Given the description of an element on the screen output the (x, y) to click on. 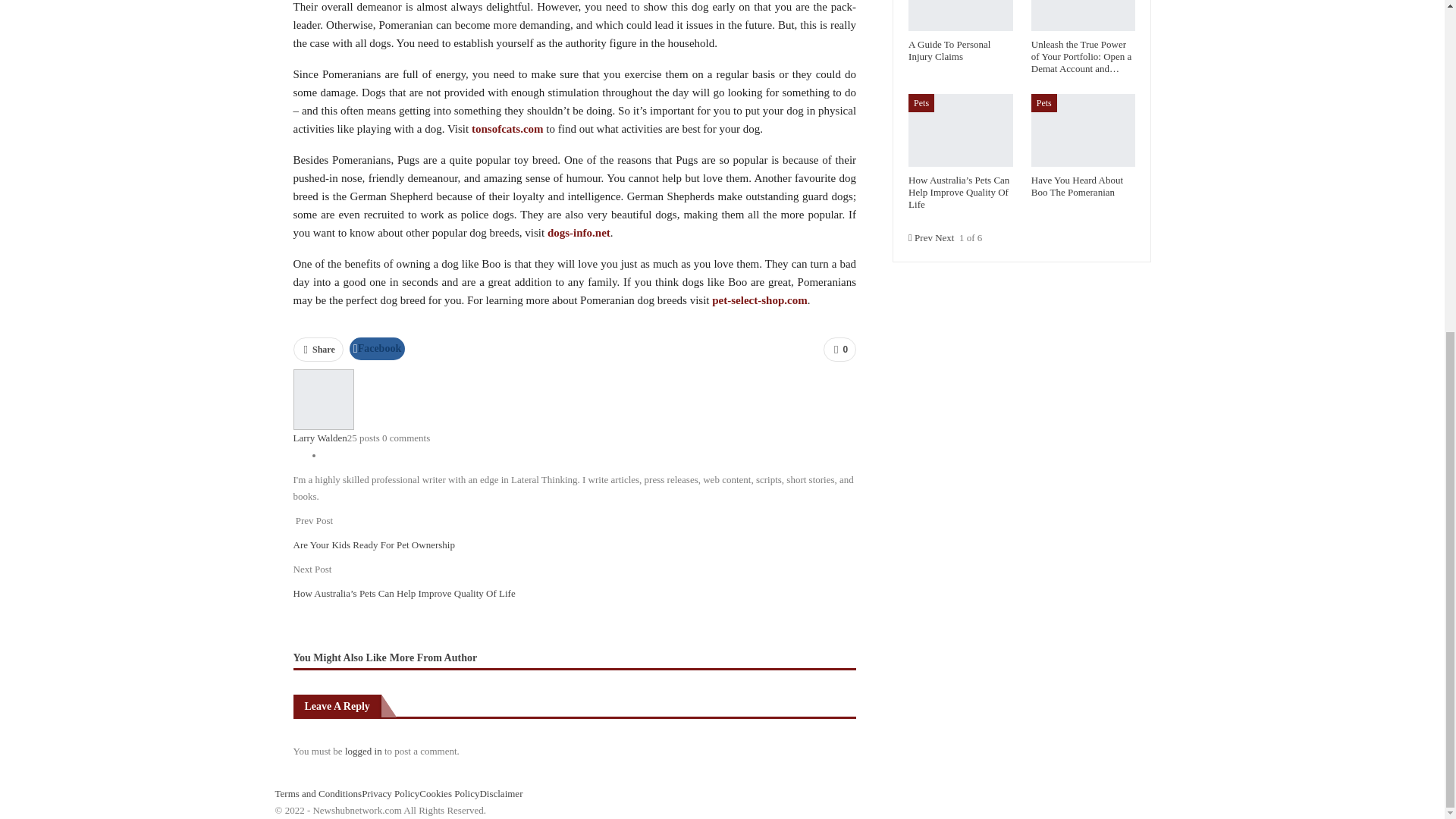
0 (840, 349)
pet-select-shop.com (758, 300)
dogs-info.net (578, 232)
More From Author (433, 656)
You Might Also Like (340, 656)
A Guide To Personal Injury Claims (960, 15)
Facebook (376, 348)
Browse Author Articles (322, 398)
tonsofcats.com (507, 128)
Are Your Kids Ready For Pet Ownership (373, 544)
Larry Walden (319, 437)
